Given the description of an element on the screen output the (x, y) to click on. 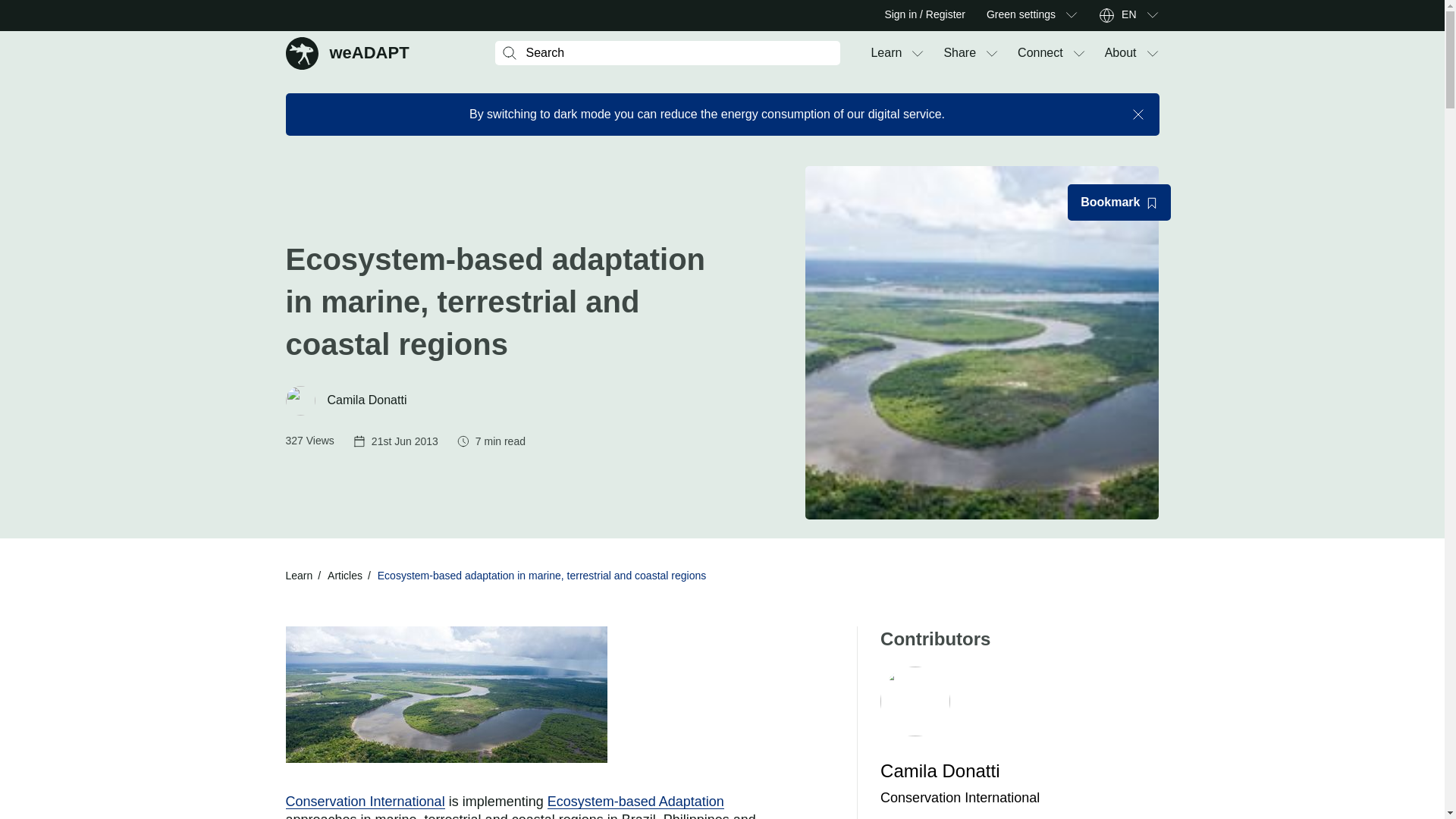
Submenu (1071, 14)
EN (1128, 14)
About (1121, 53)
Learn (885, 53)
Translate Submenu (1151, 14)
Connect (1039, 53)
Green settings (1021, 14)
Share (347, 52)
